Given the description of an element on the screen output the (x, y) to click on. 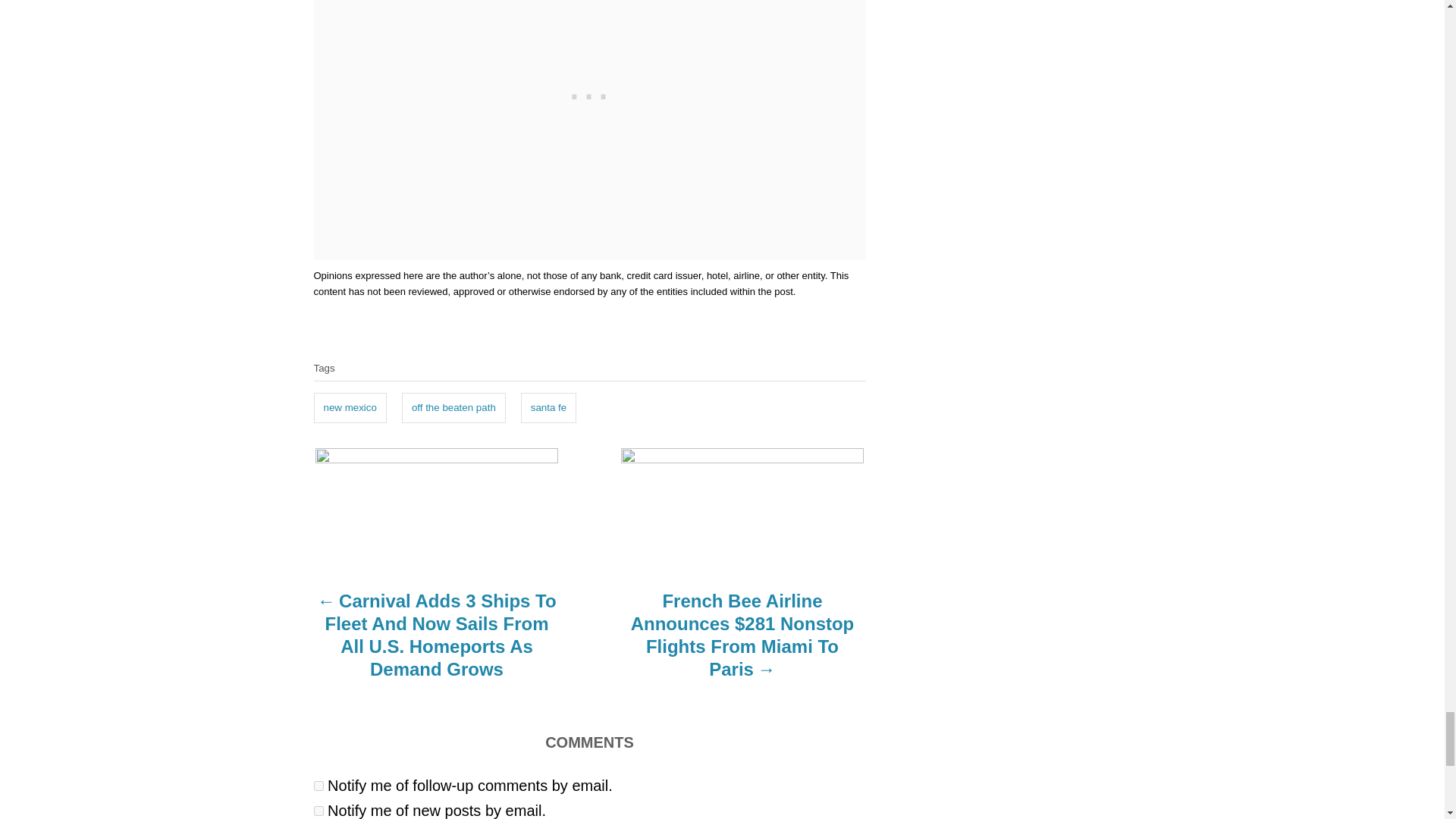
subscribe (318, 786)
subscribe (318, 810)
